Given the description of an element on the screen output the (x, y) to click on. 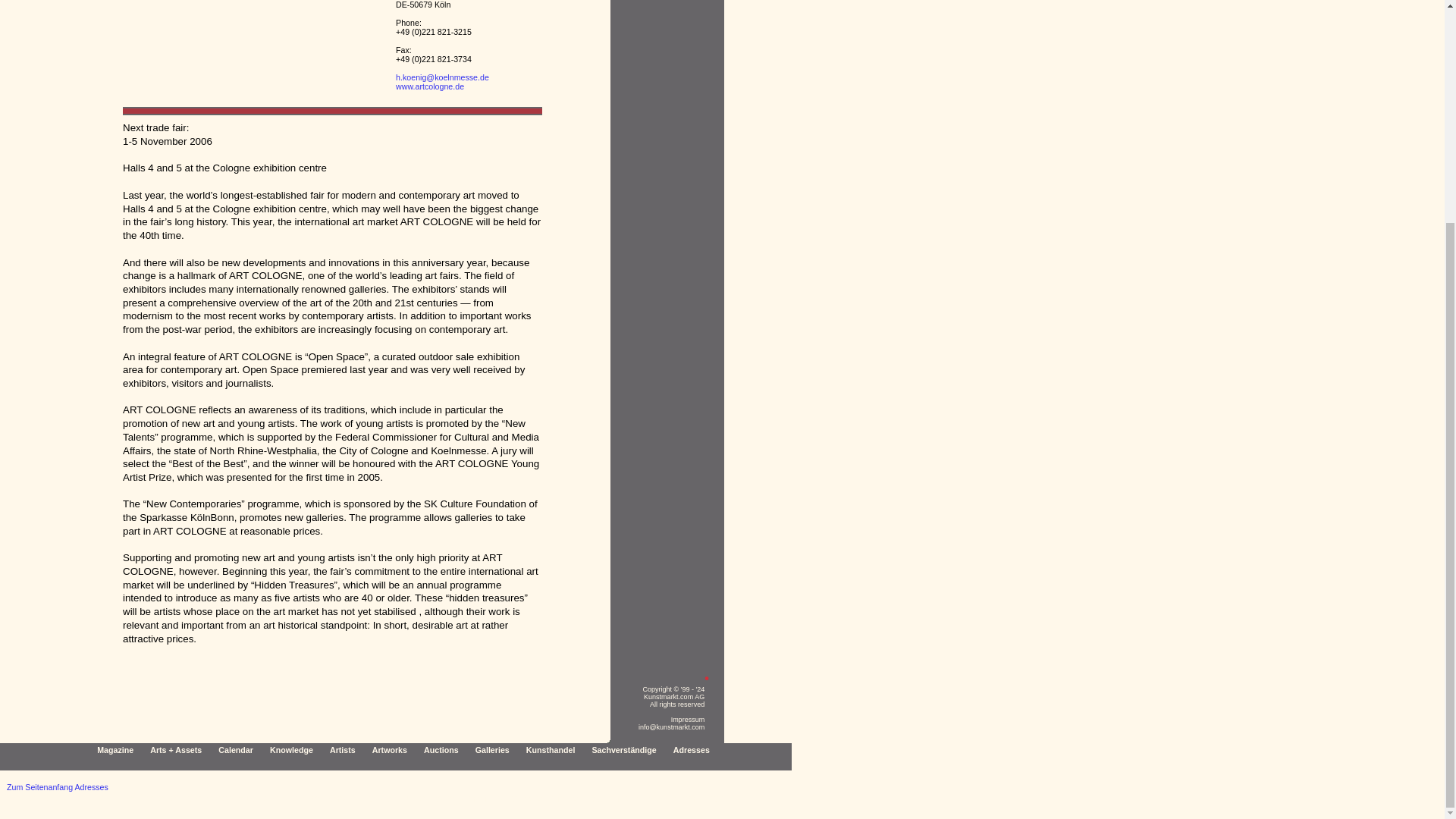
E-Mail (442, 76)
www.artcologne.de (430, 85)
Magazine (115, 749)
Calendar (235, 749)
Impressum (687, 719)
Artworks (389, 749)
Kunsthandel (550, 749)
Auctions (440, 749)
Knowledge (291, 749)
Zum Seitenanfang Adresses (57, 786)
